Given the description of an element on the screen output the (x, y) to click on. 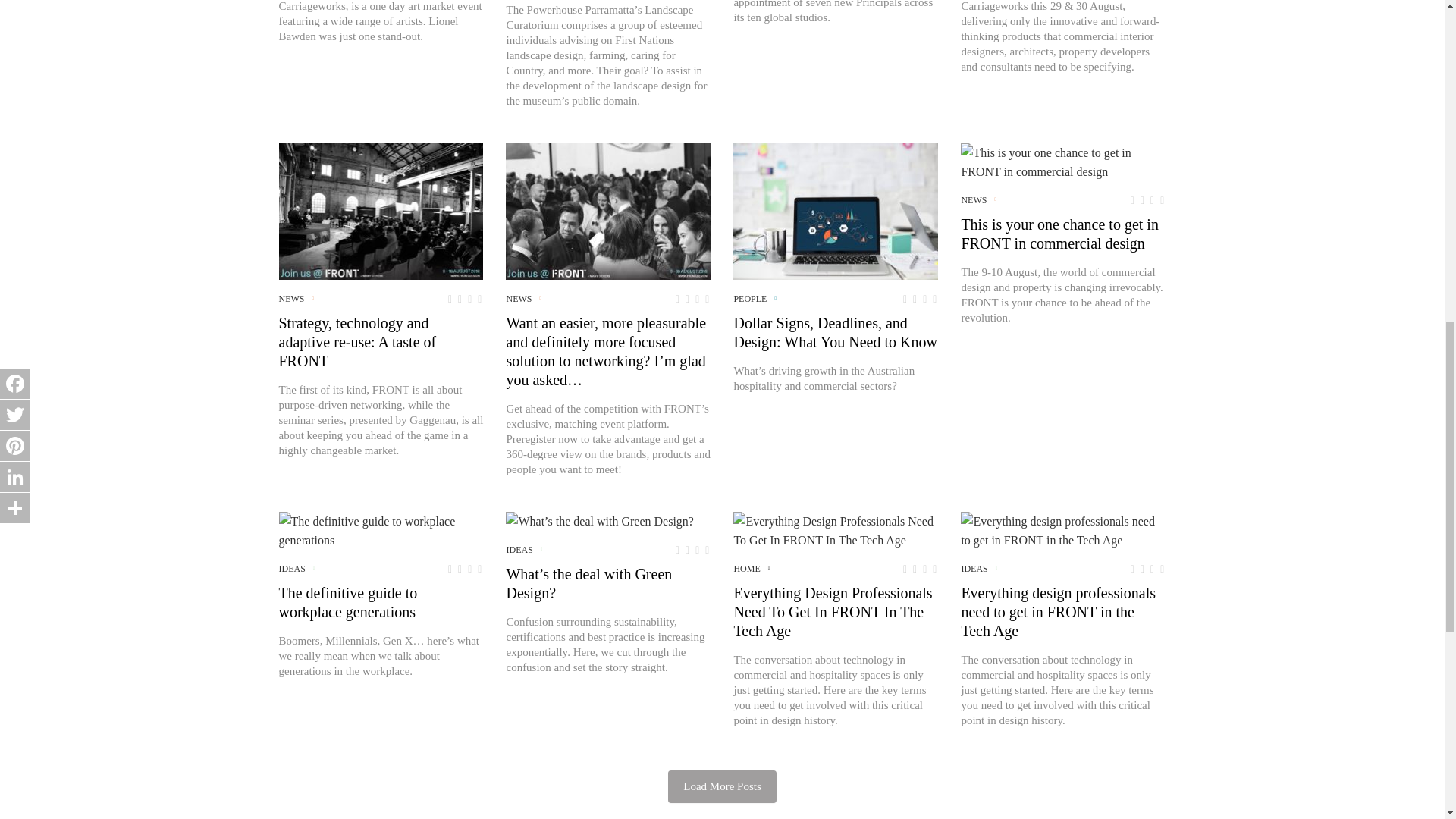
Strategy, technology and adaptive re-use: A taste of FRONT (381, 211)
Dollar Signs, Deadlines, and Design: What You Need to Know (835, 211)
The definitive guide to workplace generations (381, 530)
This is your one chance to get in FRONT in commercial design (1063, 161)
